Given the description of an element on the screen output the (x, y) to click on. 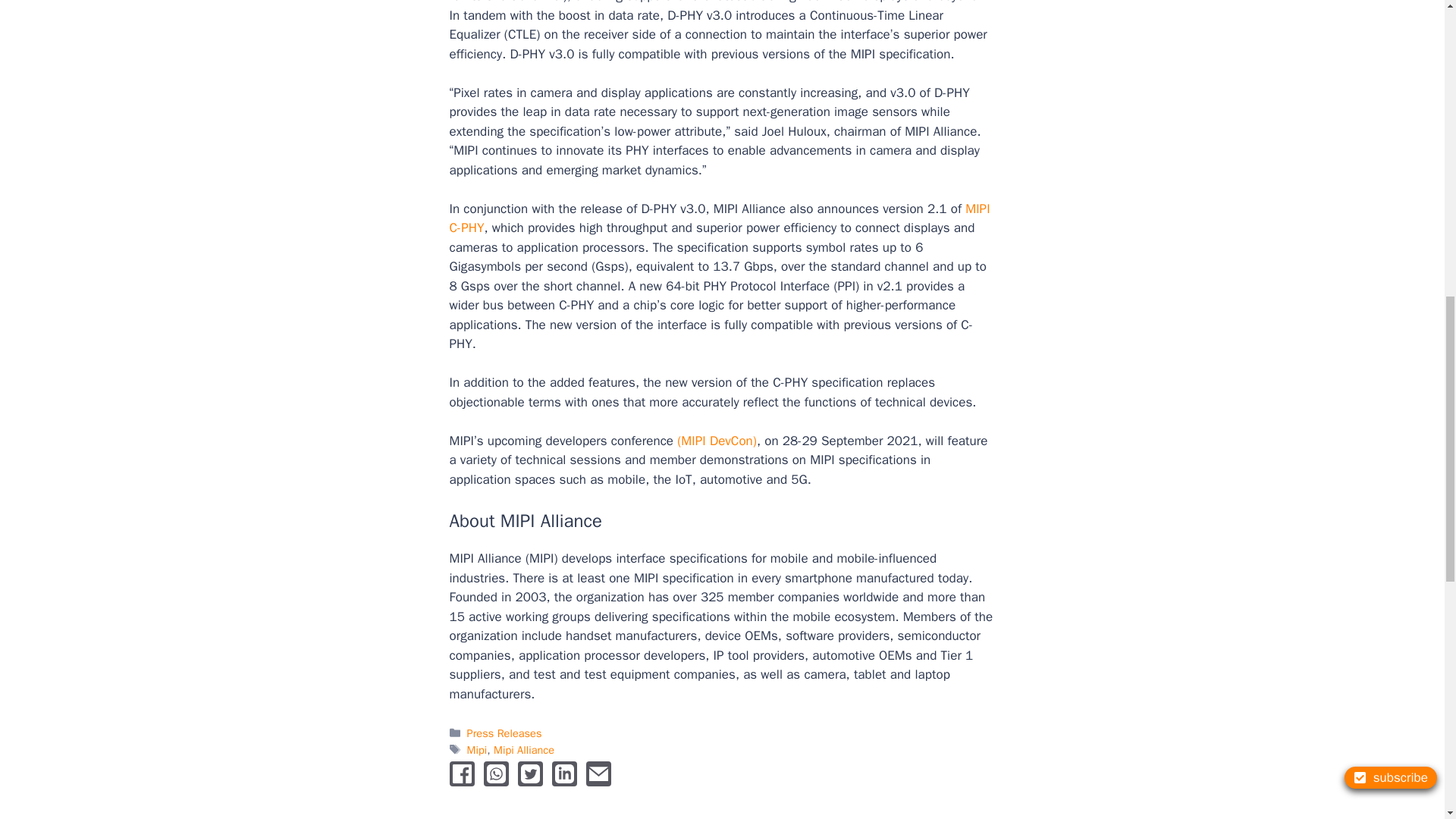
Mipi (477, 749)
Press Releases (504, 733)
MIPI C-PHY (719, 218)
Mipi Alliance (523, 749)
